Given the description of an element on the screen output the (x, y) to click on. 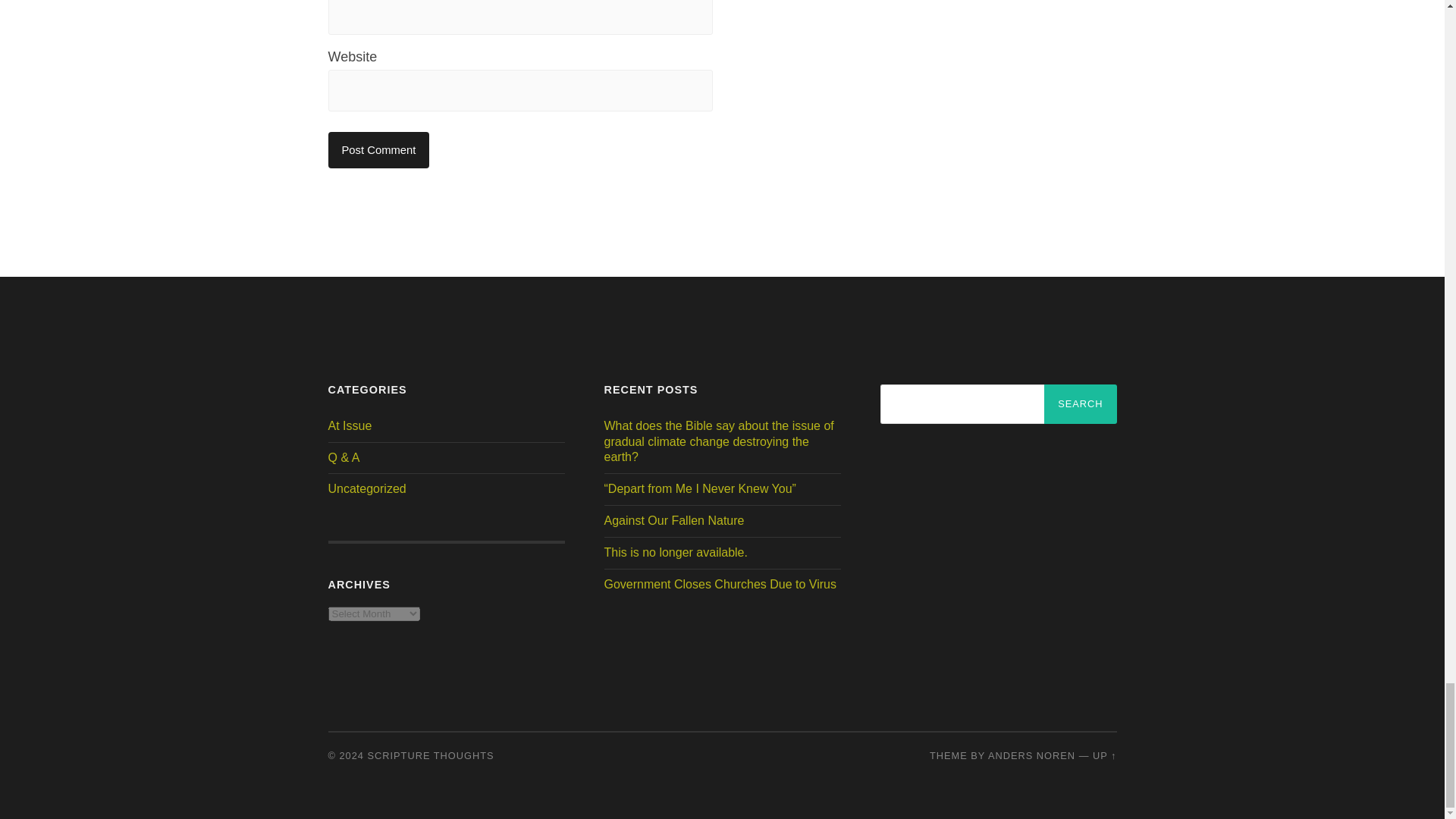
At Issue (349, 425)
Post Comment (378, 149)
Post Comment (378, 149)
To the top (1104, 755)
Search (1079, 404)
